Given the description of an element on the screen output the (x, y) to click on. 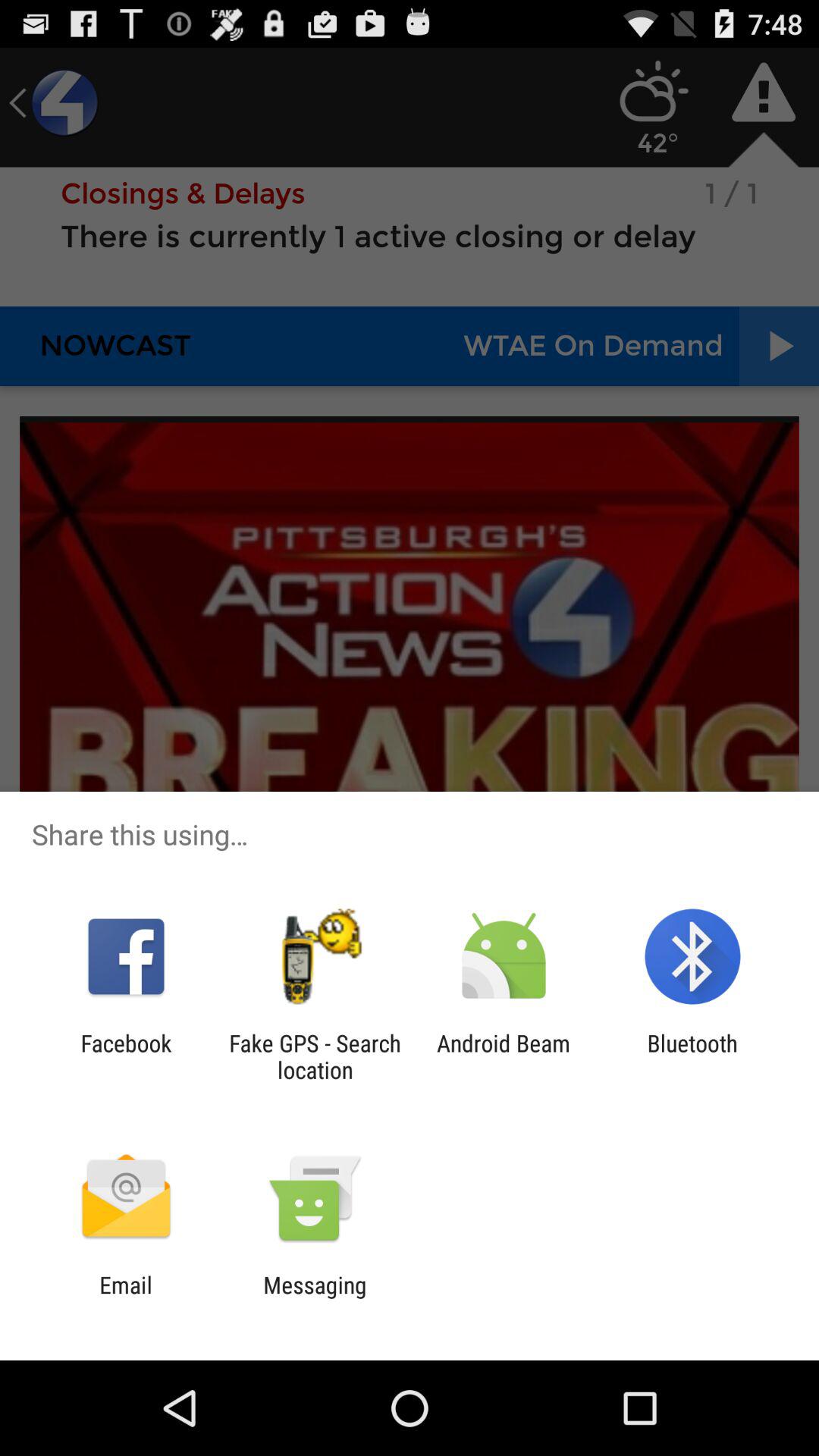
launch the icon next to the email (314, 1298)
